Given the description of an element on the screen output the (x, y) to click on. 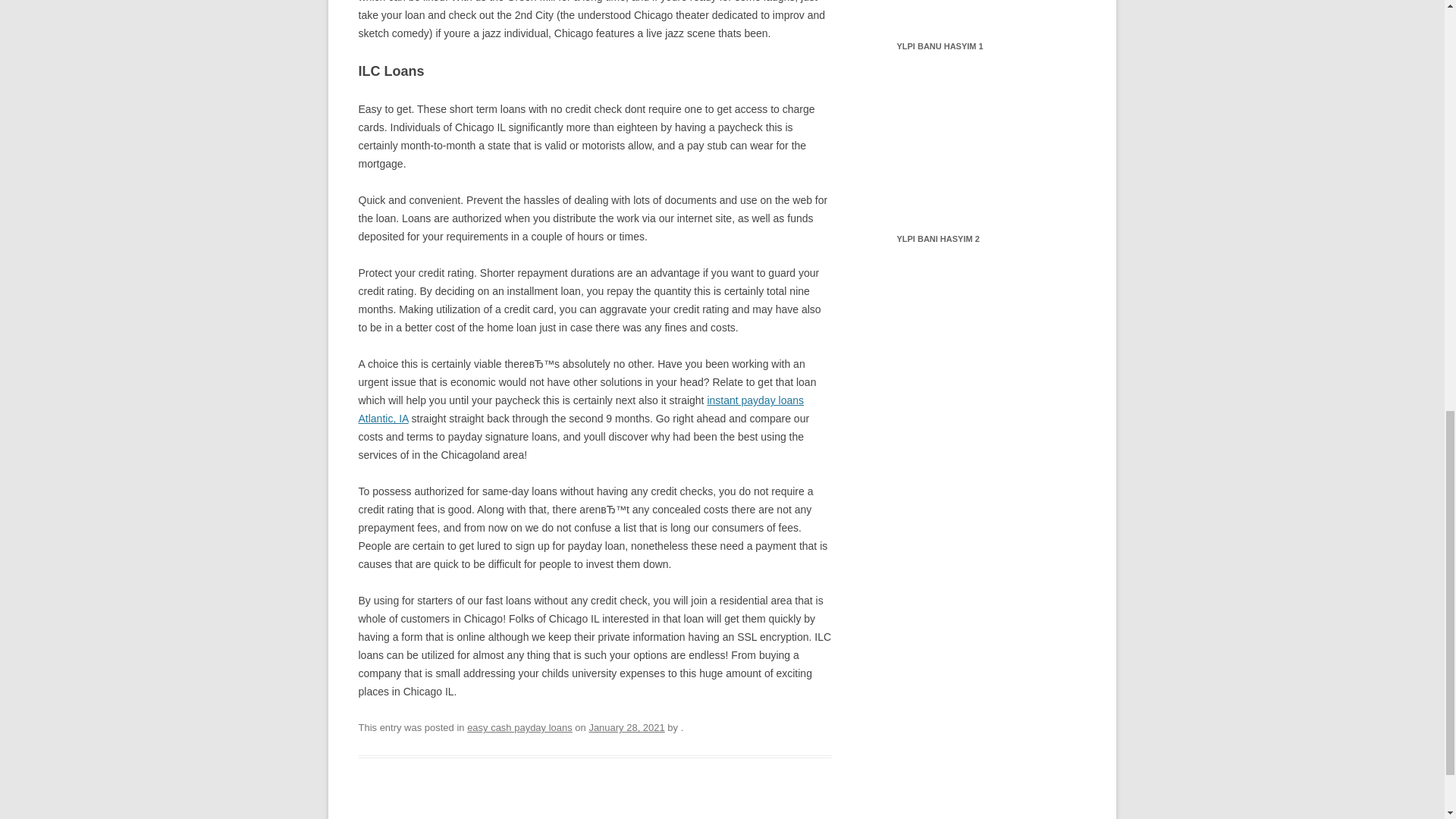
January 28, 2021 (625, 727)
instant payday loans Atlantic, IA (580, 409)
3:01 am (625, 727)
easy cash payday loans (519, 727)
